Given the description of an element on the screen output the (x, y) to click on. 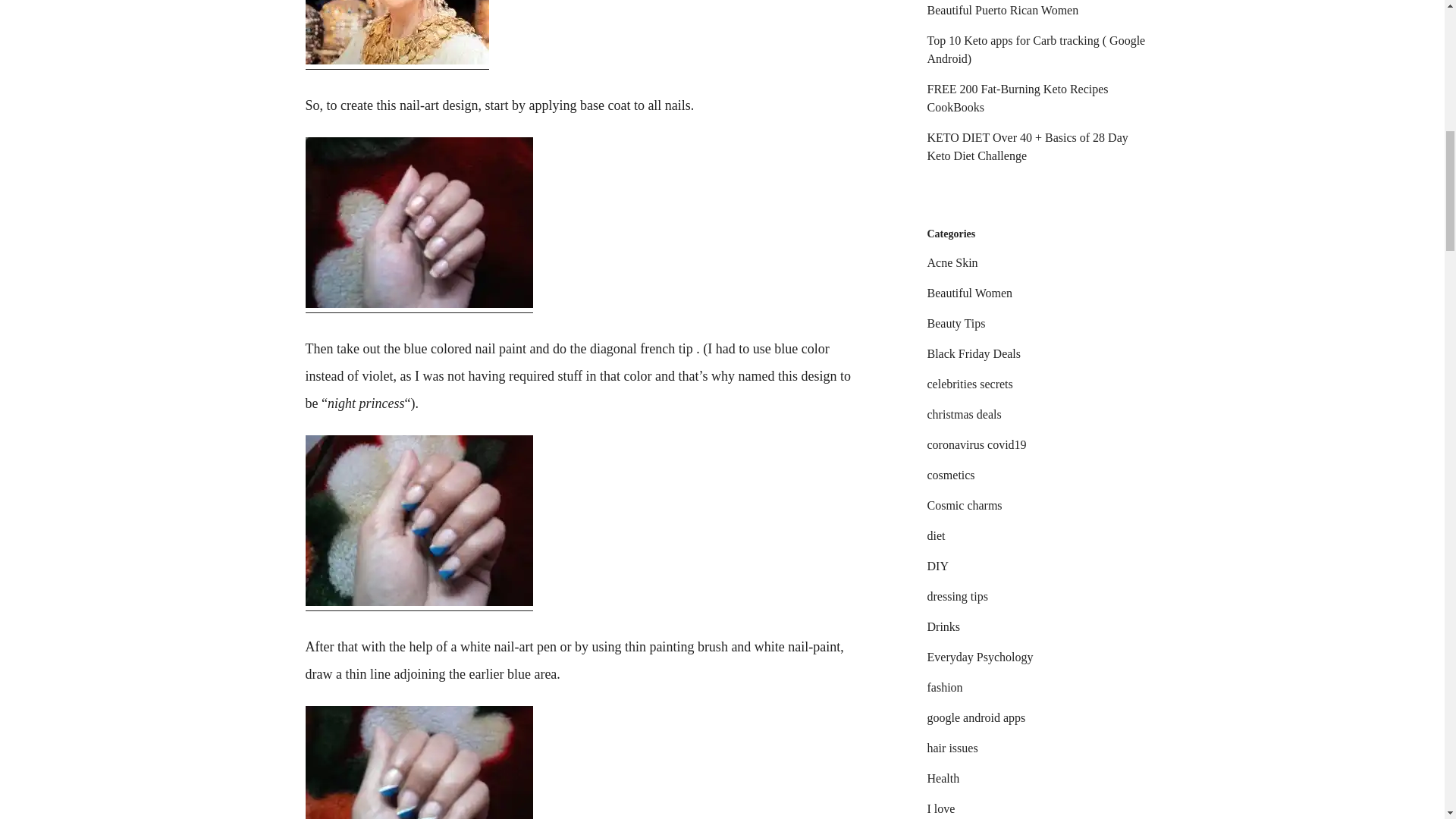
Photo3590 (418, 222)
Photo3594 (418, 520)
Photo3598 (418, 762)
